Given the description of an element on the screen output the (x, y) to click on. 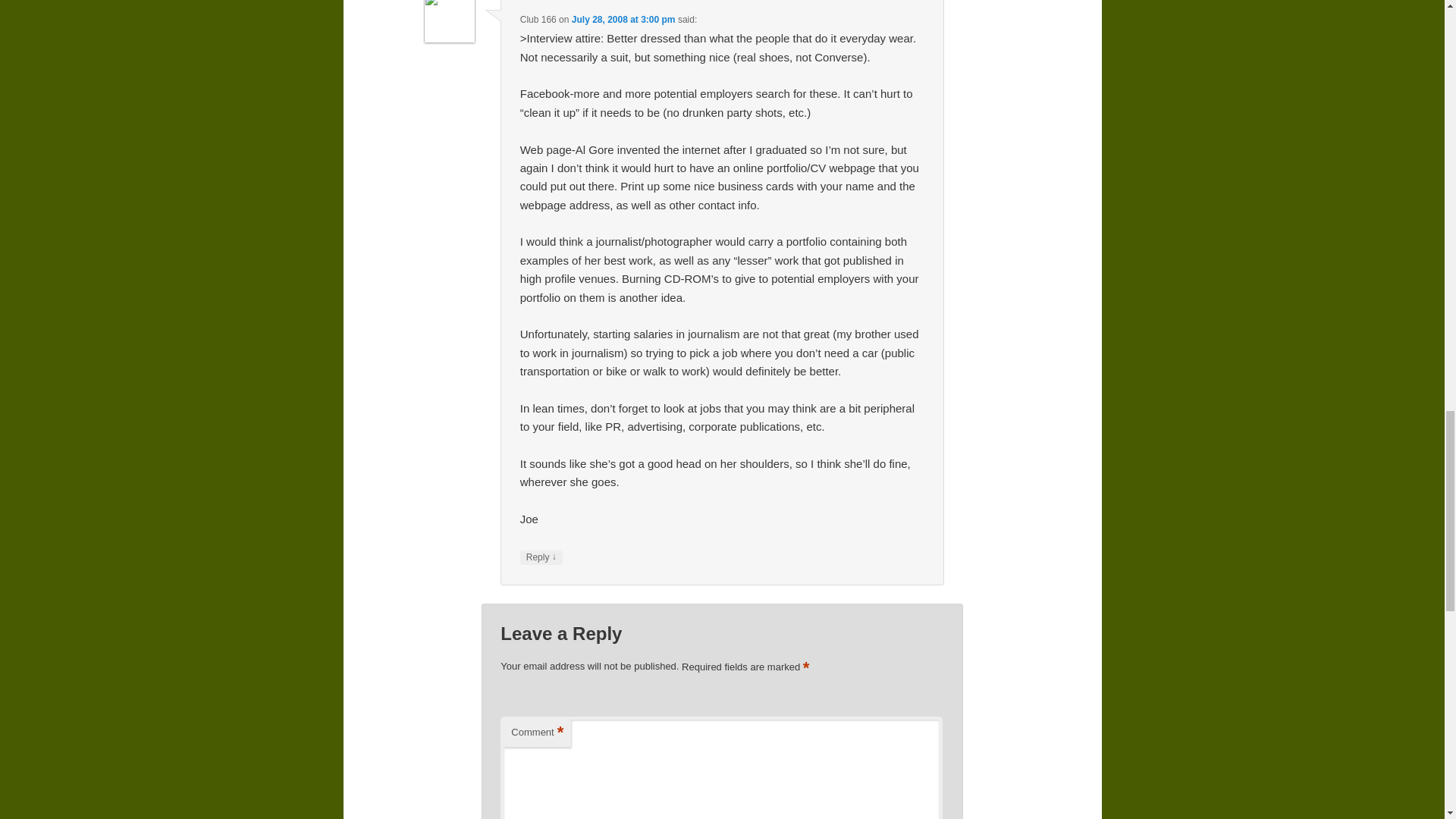
July 28, 2008 at 3:00 pm (623, 19)
